Given the description of an element on the screen output the (x, y) to click on. 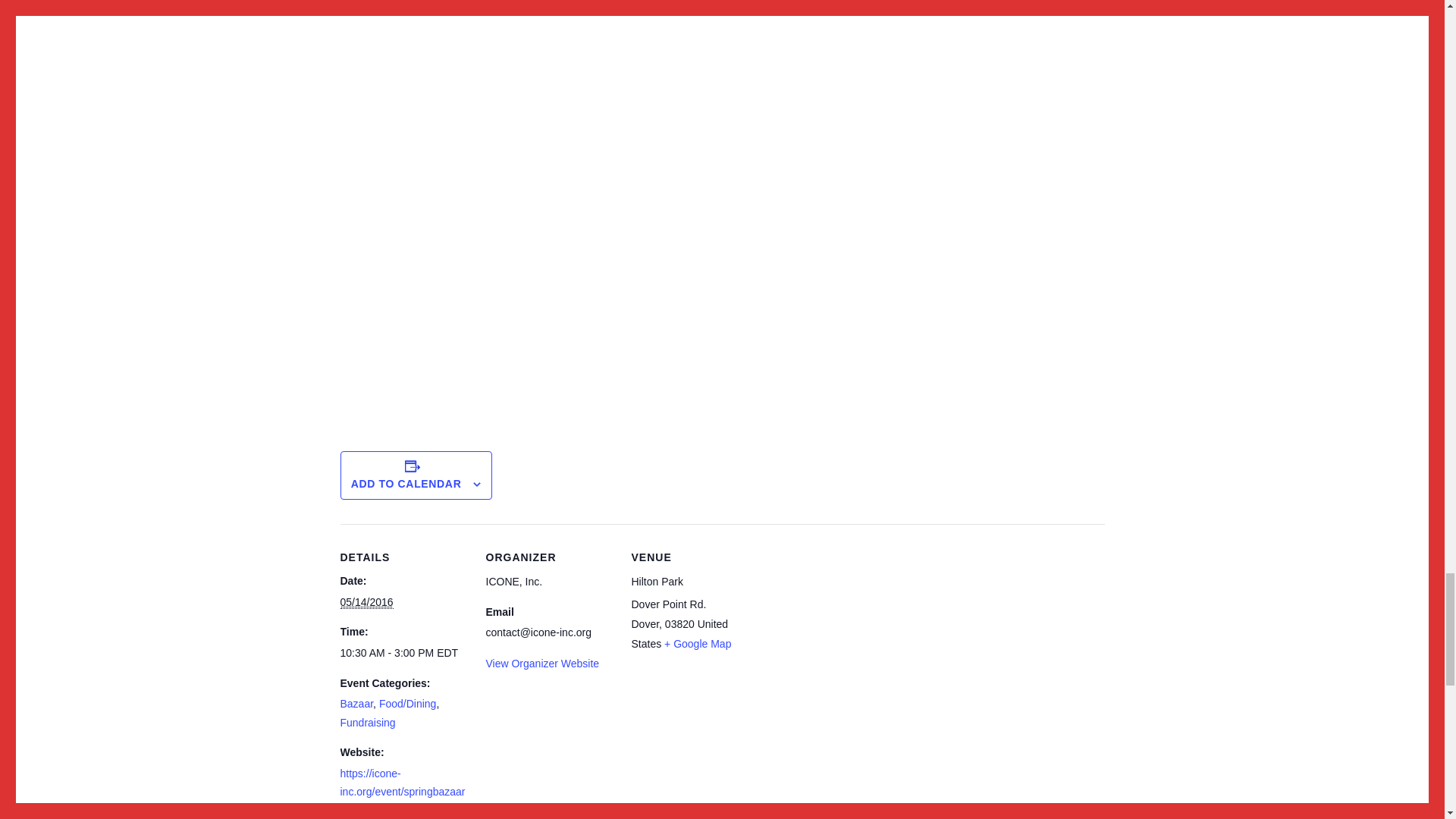
2016-05-14 (366, 602)
2016-05-14 (403, 652)
Click to view a Google Map (696, 644)
